Given the description of an element on the screen output the (x, y) to click on. 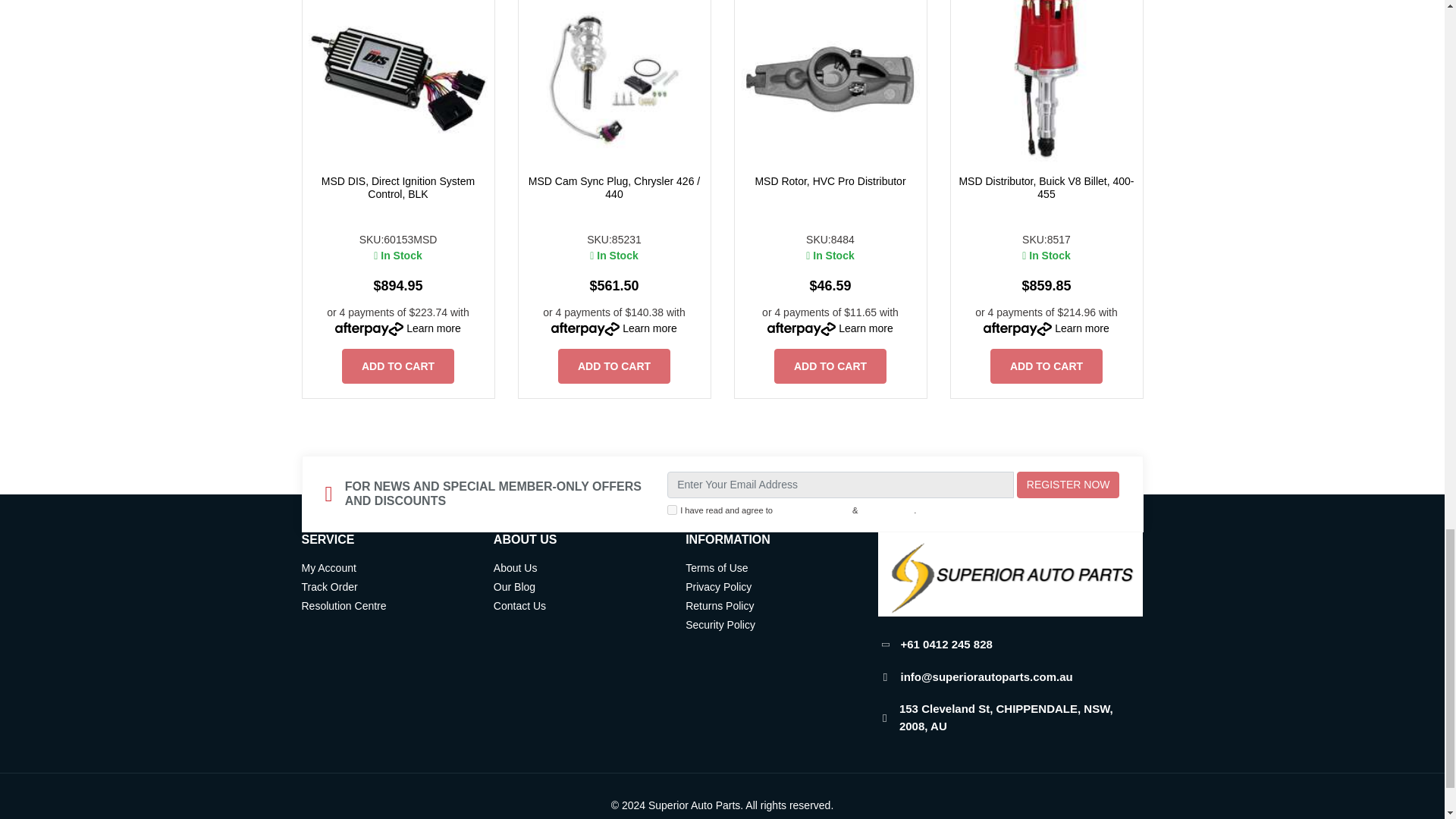
Add MSD Distributor, Buick V8 Billet, 400-455 to Cart (1046, 366)
y (671, 510)
REGISTER NOW (1067, 484)
Add MSD Rotor, HVC Pro Distributor to Cart (830, 366)
Add MSD DIS, Direct Ignition System Control, BLK to Cart (398, 366)
